Given the description of an element on the screen output the (x, y) to click on. 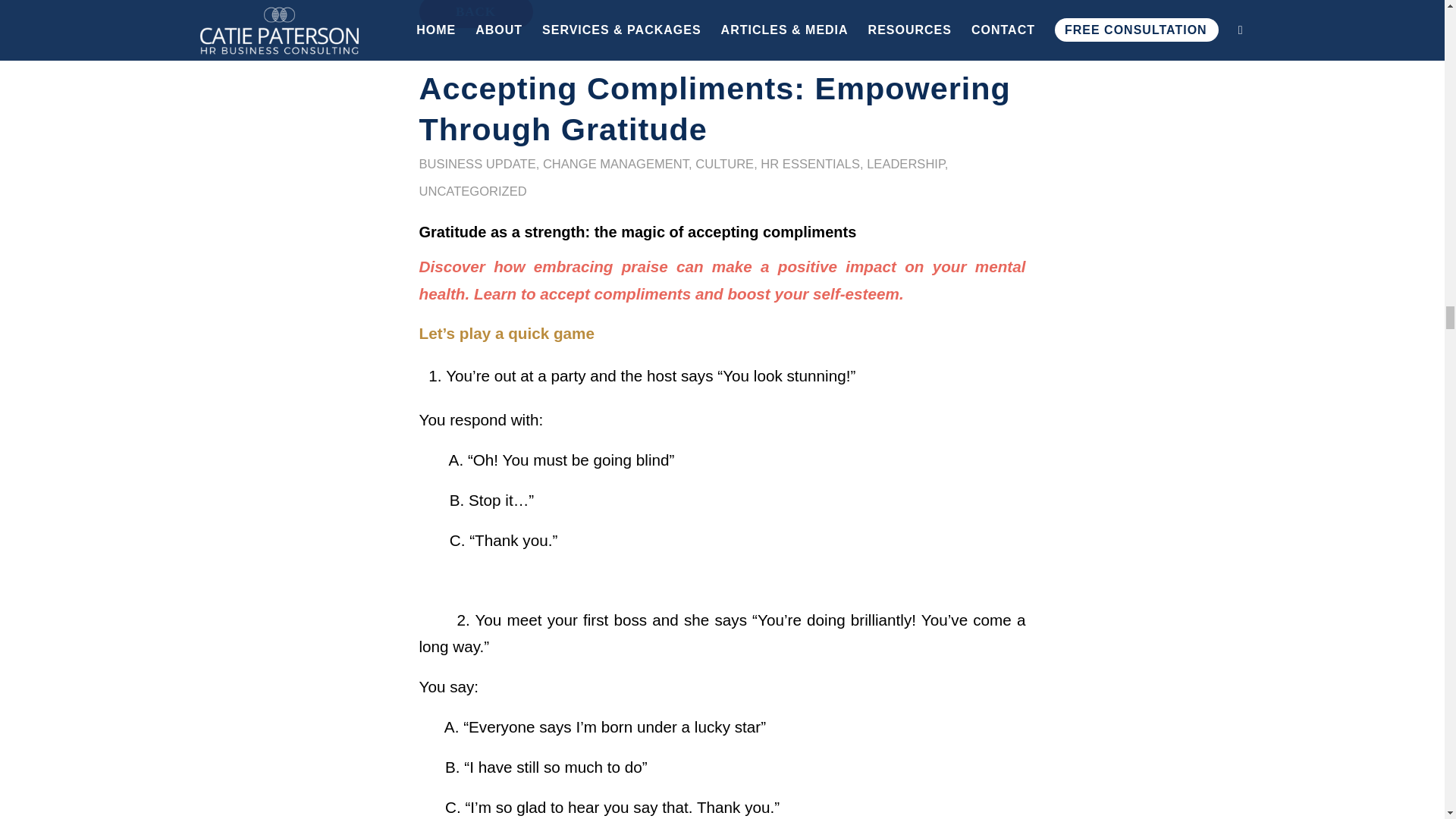
CHANGE MANAGEMENT (615, 164)
BACK (475, 13)
BUSINESS UPDATE (477, 164)
Accepting Compliments: Empowering Through Gratitude (714, 109)
CULTURE (724, 164)
